Given the description of an element on the screen output the (x, y) to click on. 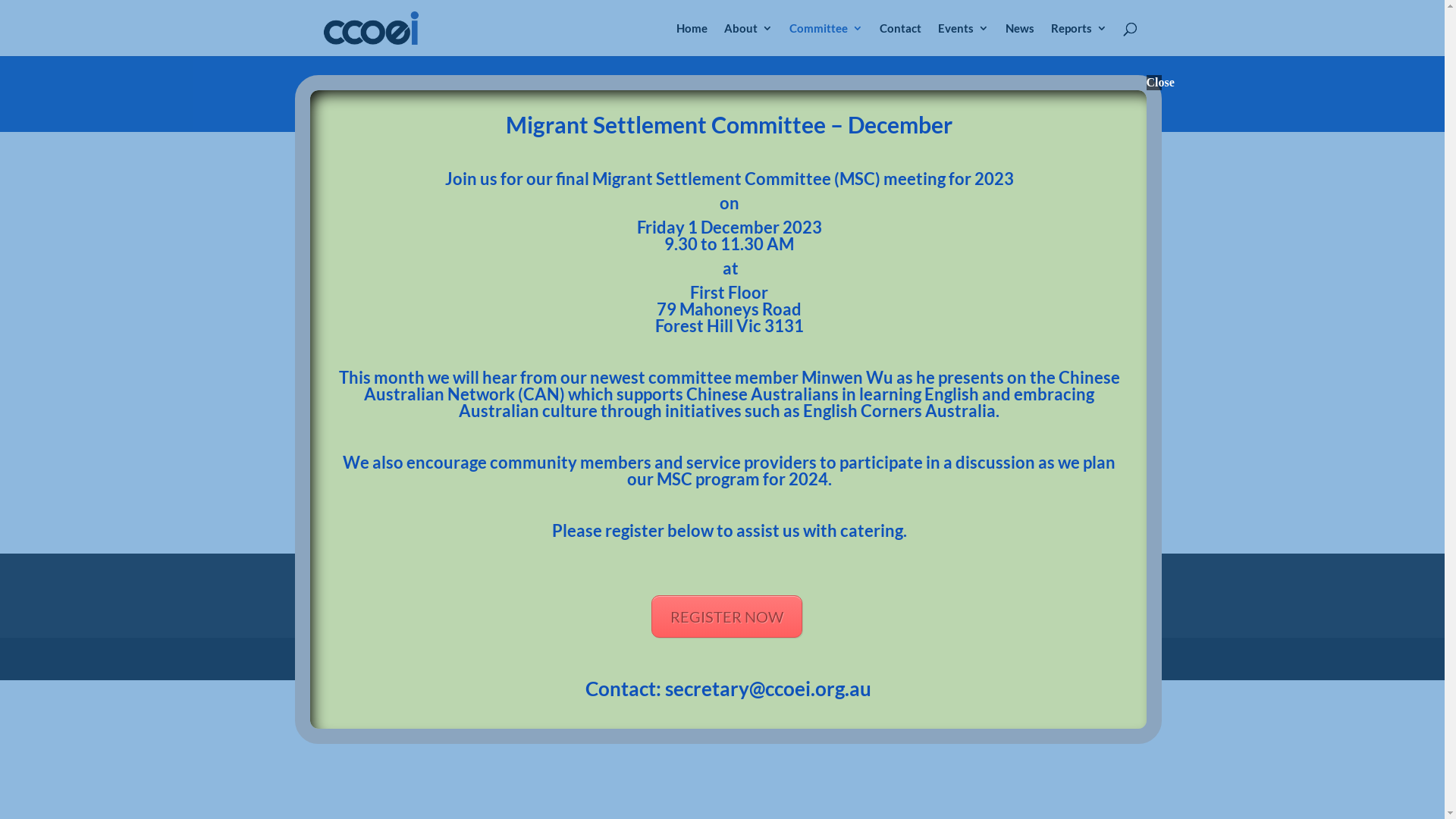
Home Element type: text (691, 39)
Volunteer Element type: text (783, 307)
Close Element type: text (1153, 82)
Contact Element type: text (900, 39)
Newsletter Element type: text (769, 607)
Membership Element type: text (632, 607)
Partners Element type: text (901, 607)
Contact Us Element type: text (486, 607)
Call Us Element type: text (333, 607)
REGISTER NOW Element type: text (726, 616)
Events Element type: text (963, 39)
Partners Element type: text (357, 307)
Volunteer Element type: text (1045, 607)
About Element type: text (748, 39)
News Element type: text (1019, 39)
Committee Element type: text (825, 39)
Reports Element type: text (1079, 39)
